Given the description of an element on the screen output the (x, y) to click on. 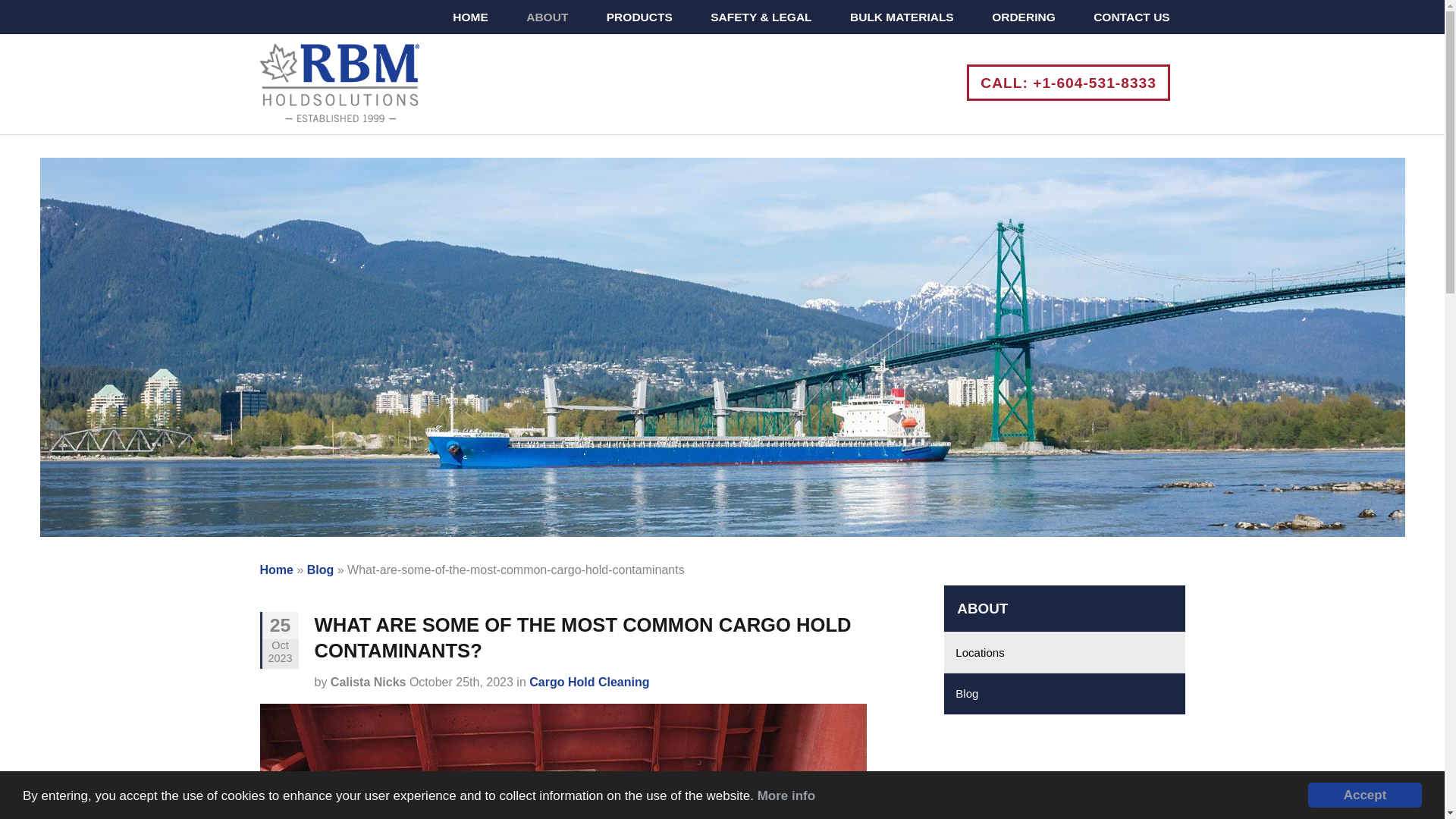
Home (275, 569)
Cargo Hold Cleaning (589, 681)
HOME (470, 17)
ORDERING (1023, 17)
ABOUT (547, 17)
ABOUT (1064, 608)
RBM Hold Solutions - Home (339, 113)
Blog (1064, 693)
PRODUCTS (639, 17)
Locations (1064, 652)
Blog (320, 569)
CONTACT US (1131, 17)
Category: Cargo Hold Cleaning (589, 681)
BULK MATERIALS (901, 17)
